Given the description of an element on the screen output the (x, y) to click on. 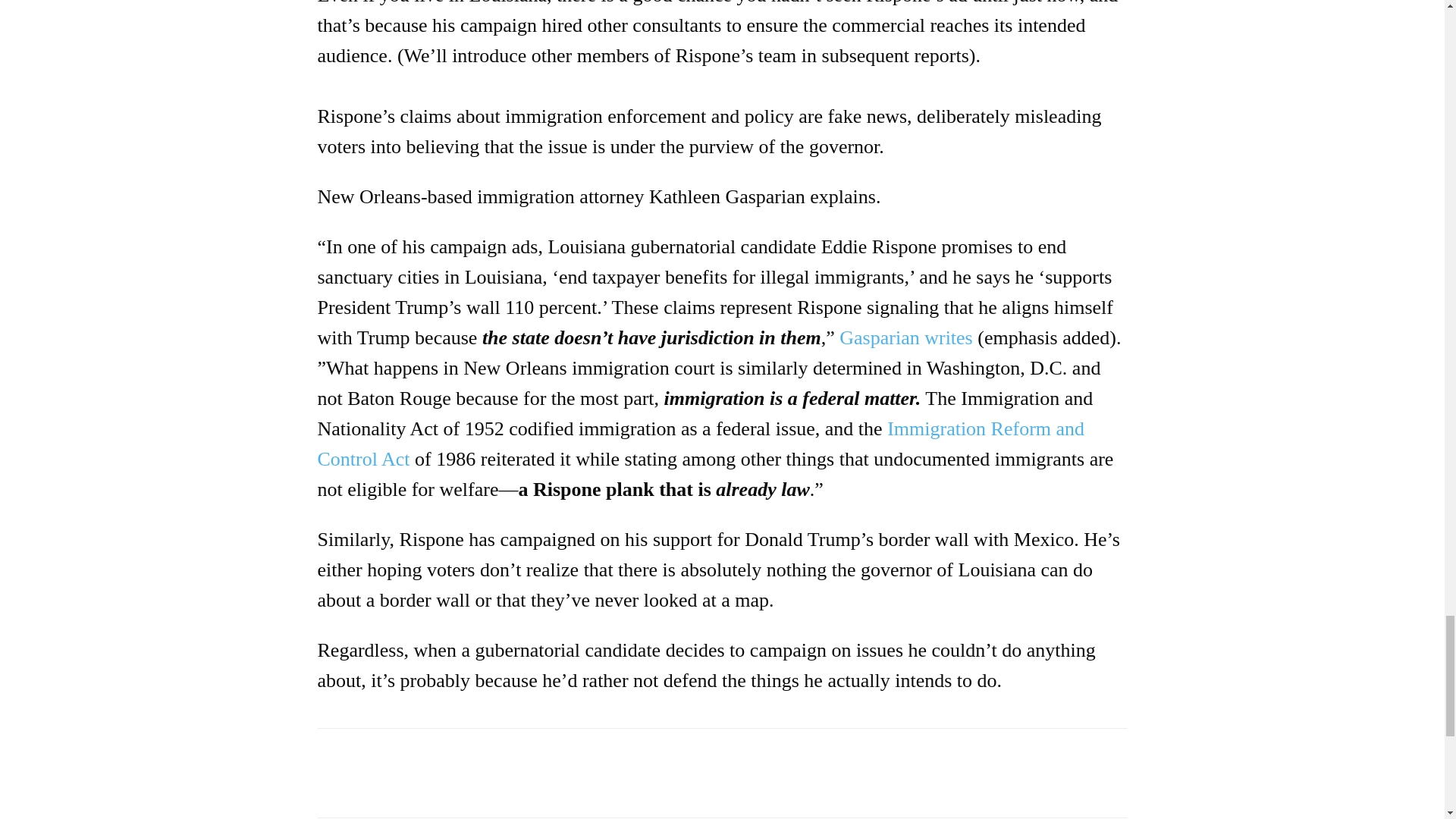
bottomFacebookLike (430, 752)
Immigration Reform and Control Act (700, 443)
Gasparian writes (906, 337)
